Given the description of an element on the screen output the (x, y) to click on. 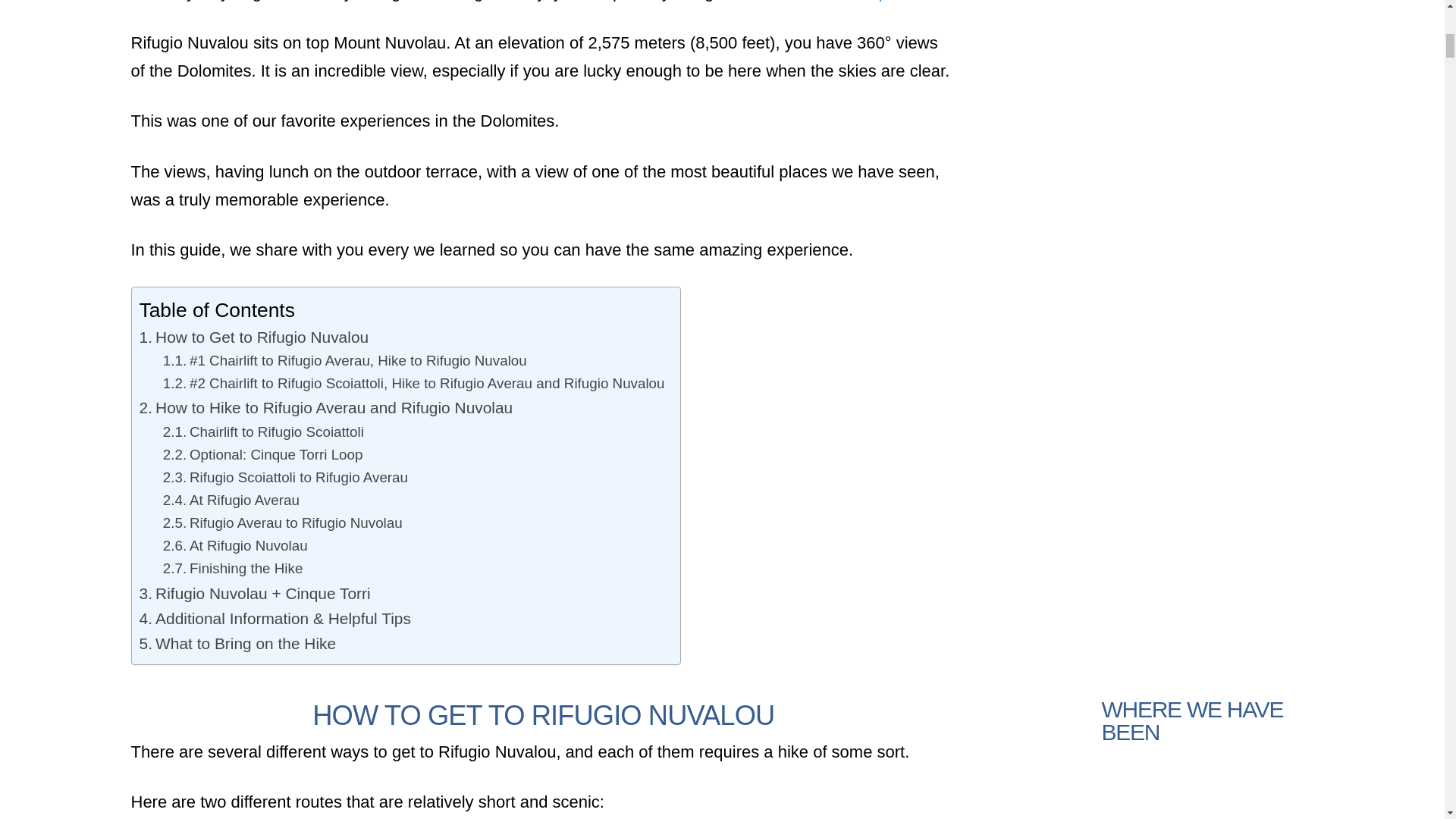
Cinque Torri. (894, 0)
How to Hike to Rifugio Averau and Rifugio Nuvolau (326, 407)
Chairlift to Rifugio Scoiattoli (263, 431)
Chairlift to Rifugio Scoiattoli (263, 431)
How to Get to Rifugio Nuvalou (254, 336)
How to Hike to Rifugio Averau and Rifugio Nuvolau (326, 407)
Rifugio Scoiattoli to Rifugio Averau (285, 477)
How to Get to Rifugio Nuvalou (254, 336)
Optional: Cinque Torri Loop (262, 454)
At Rifugio Averau (231, 499)
